Given the description of an element on the screen output the (x, y) to click on. 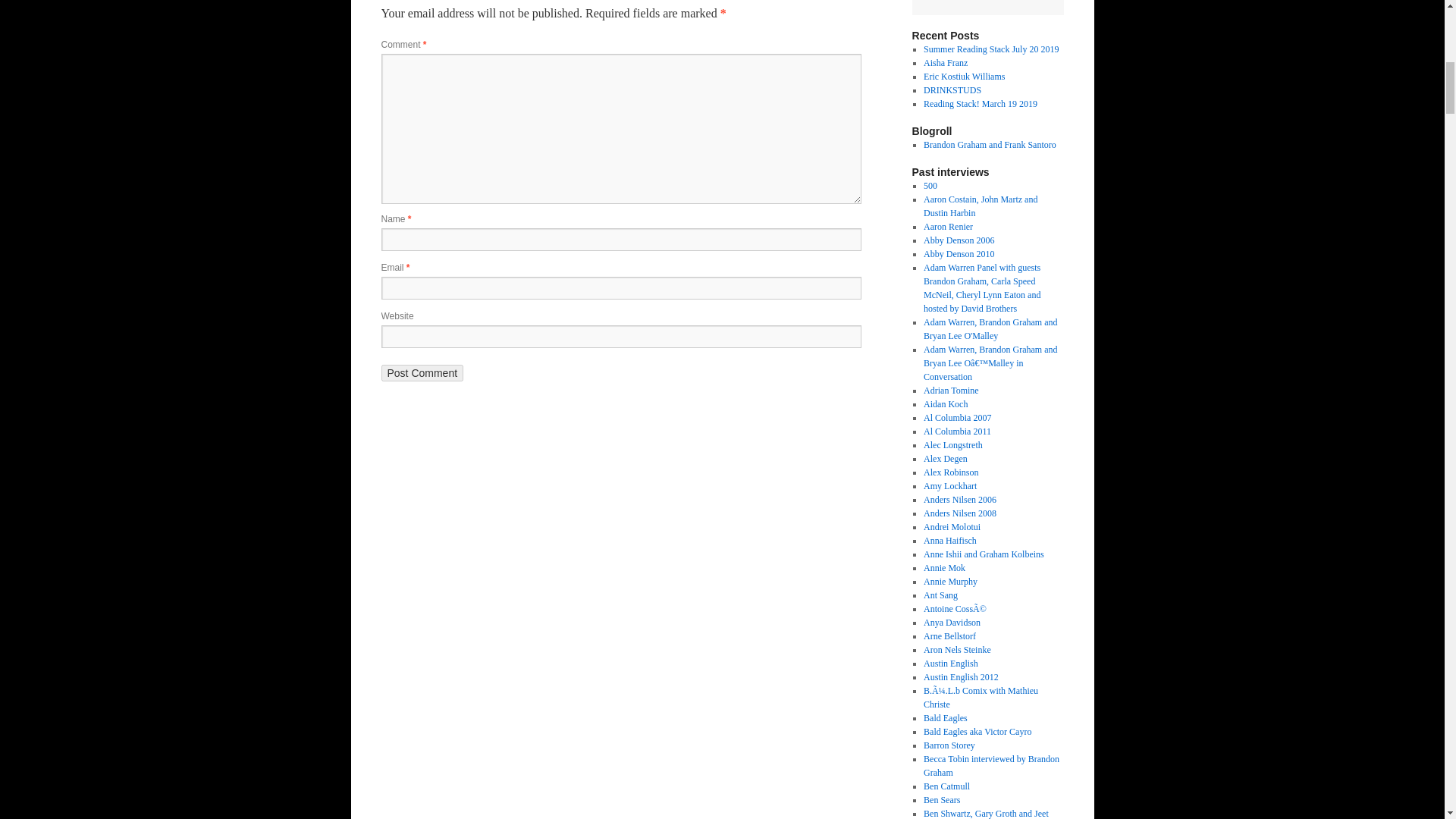
Post Comment (421, 372)
500 (930, 185)
Summer Reading Stack July 20 2019 (990, 49)
Post Comment (421, 372)
Aaron Renier (947, 226)
Aisha Franz (945, 62)
Abby Denson 2006 (958, 240)
Reading Stack! March 19 2019 (979, 103)
Eric Kostiuk Williams (963, 76)
DRINKSTUDS (952, 90)
Abby Denson 2010 (958, 253)
Brandon Graham and Frank Santoro (990, 144)
Aaron Costain, John Martz and Dustin Harbin (979, 206)
